Given the description of an element on the screen output the (x, y) to click on. 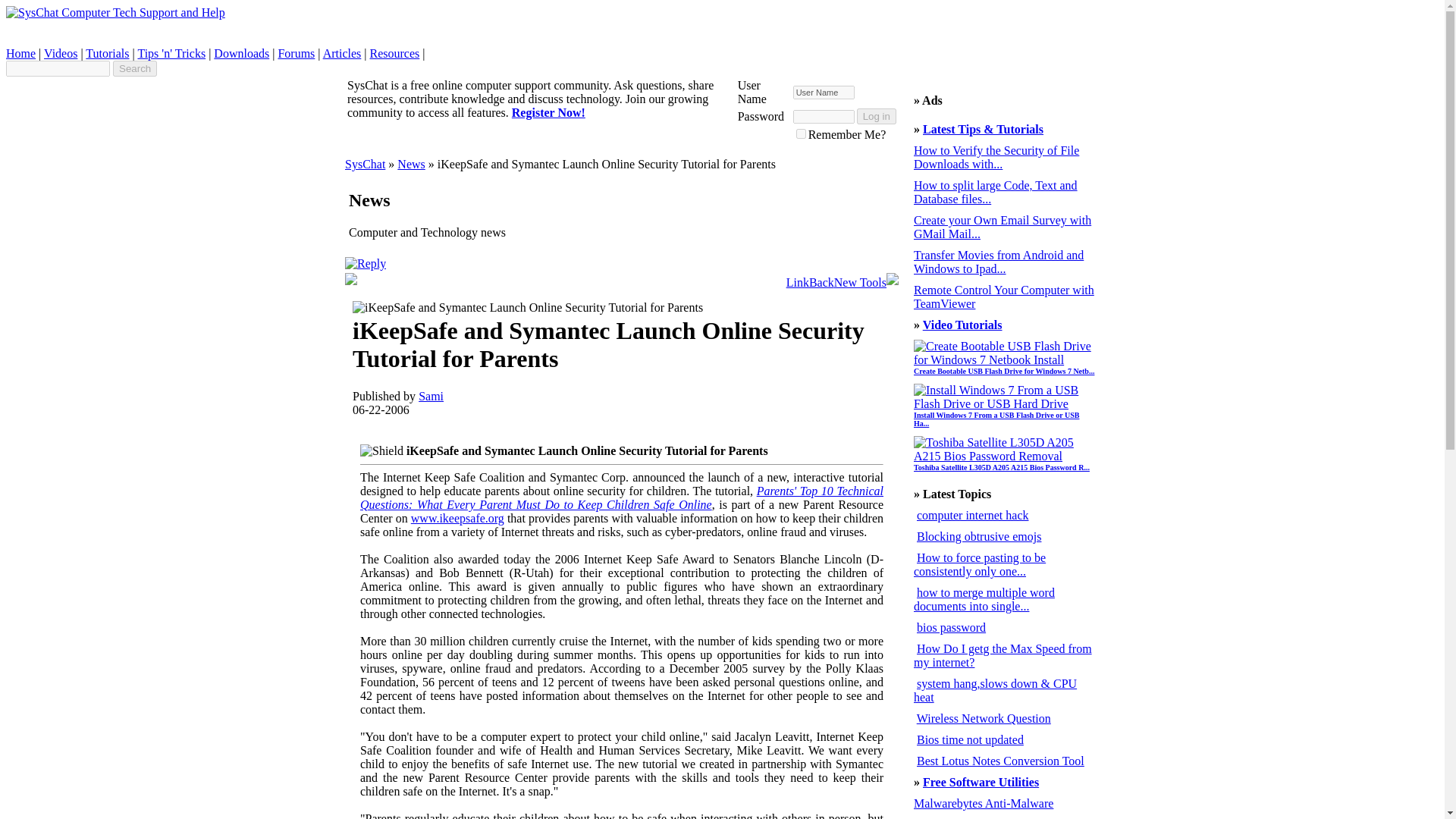
By Sebastian42  (979, 564)
Log in (876, 116)
Downloads (241, 52)
Search (135, 68)
SysChat (365, 164)
By DominicD 02-28-2014 05:31 AM (995, 192)
Tips 'n' Tricks (170, 52)
Register Now! (548, 112)
Articles (342, 52)
1 (801, 133)
Forums (296, 52)
By blithe.spirits  (973, 514)
User Name (823, 92)
Videos (60, 52)
